Given the description of an element on the screen output the (x, y) to click on. 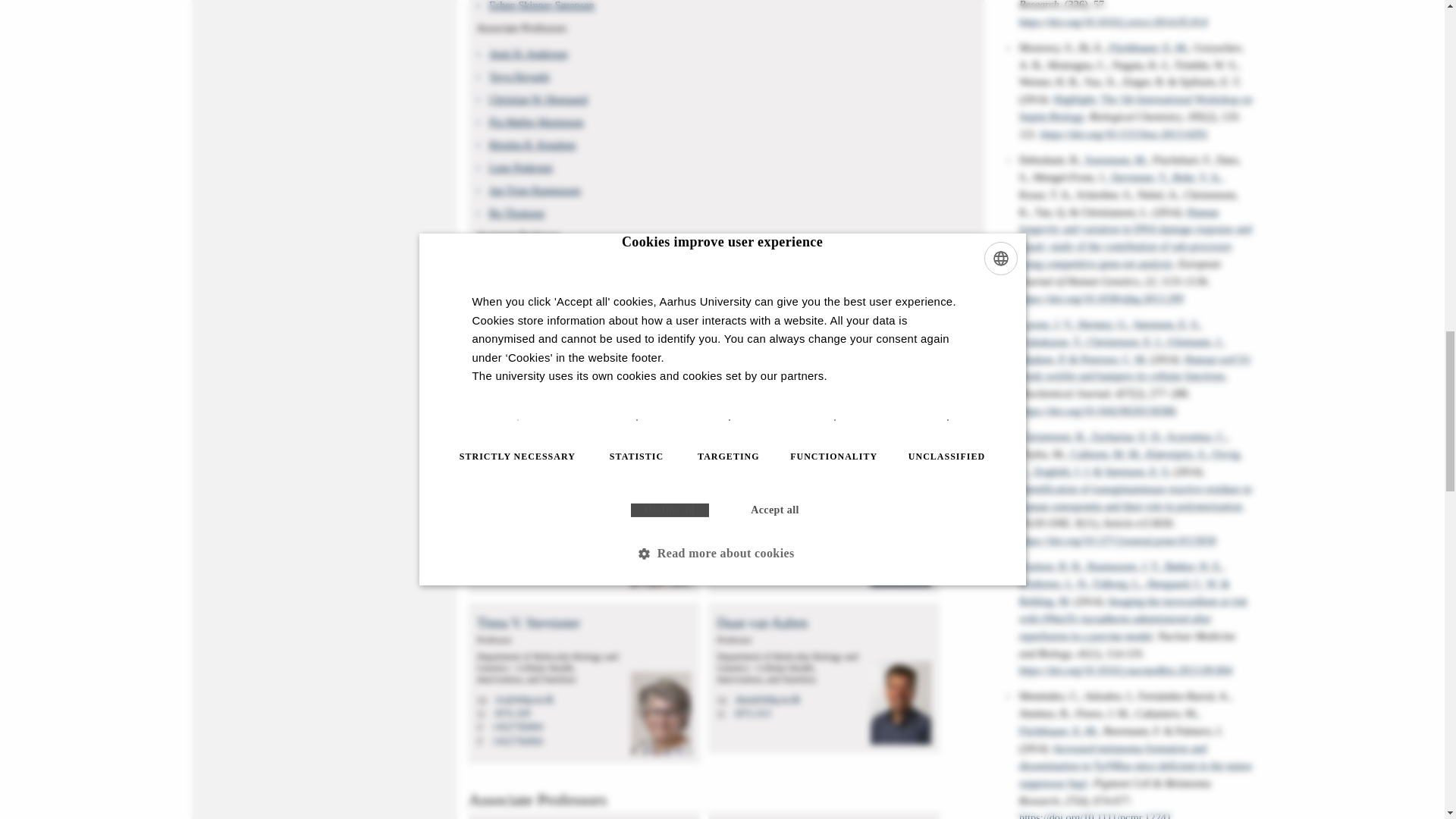
Email (483, 540)
Email (722, 540)
Email (722, 699)
Email (483, 699)
